Given the description of an element on the screen output the (x, y) to click on. 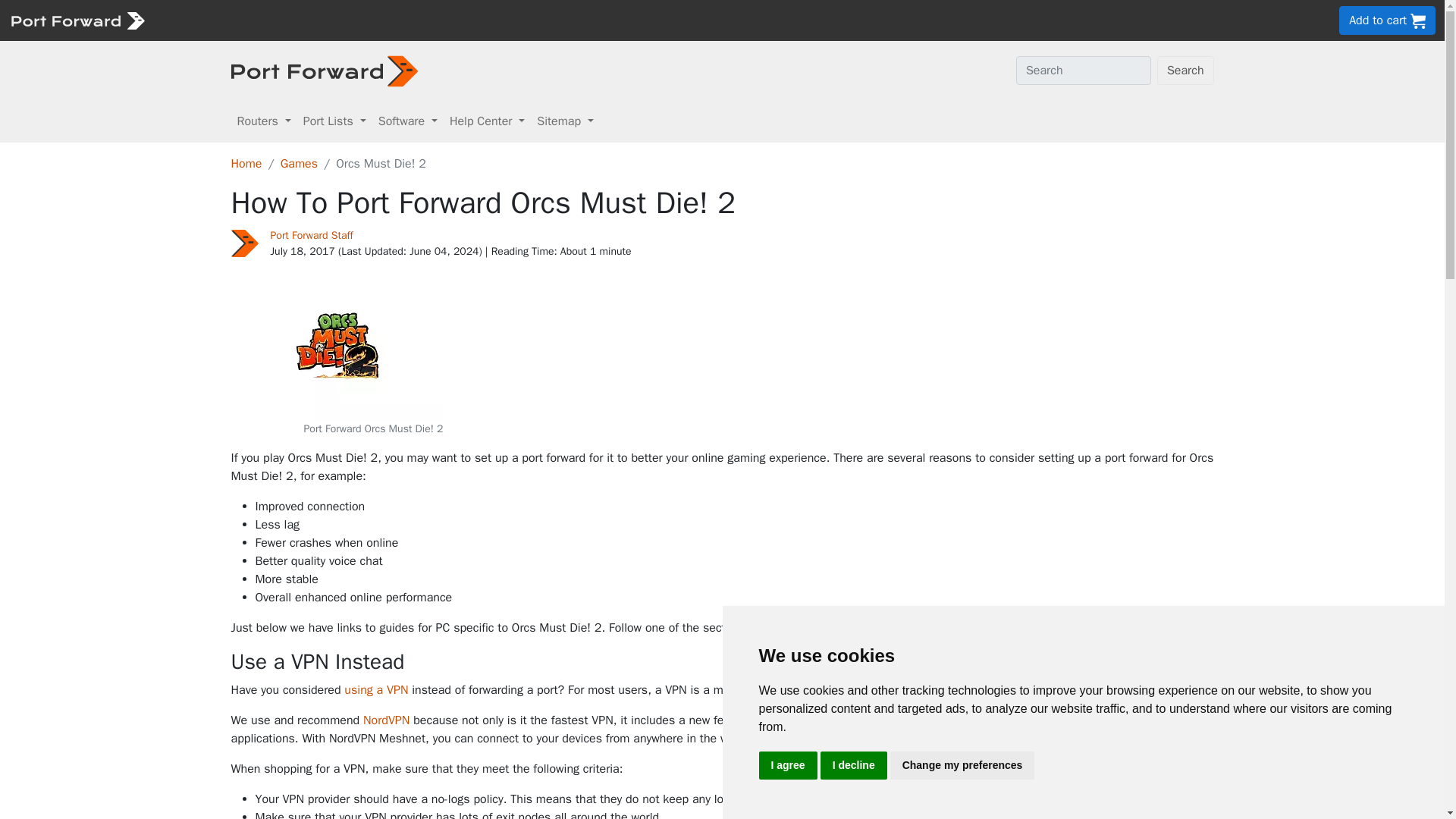
Add to cart (1387, 20)
I agree (787, 765)
Routers (263, 121)
Search (1185, 70)
Change my preferences (962, 765)
Port Lists (334, 121)
I decline (853, 765)
